Given the description of an element on the screen output the (x, y) to click on. 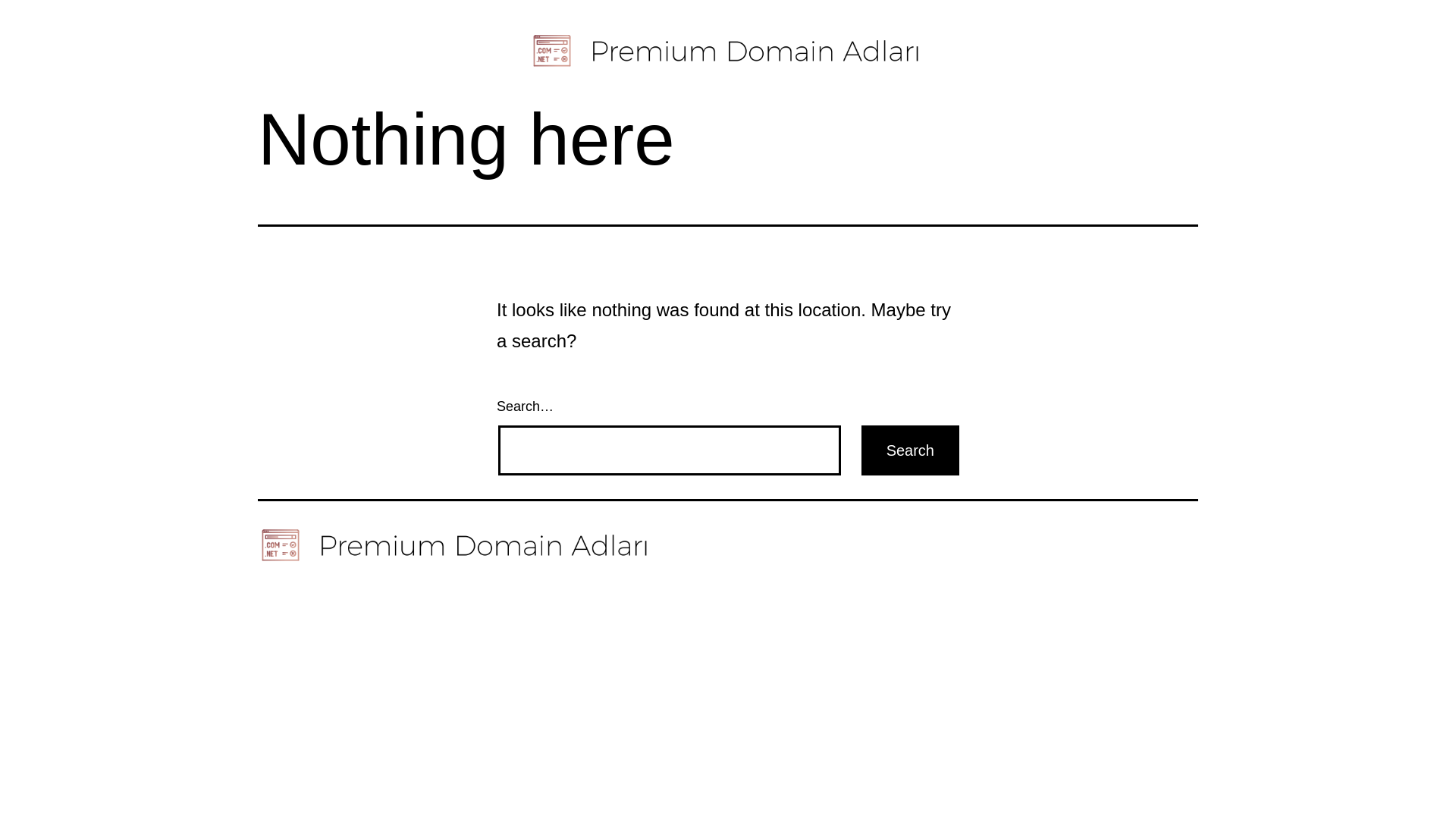
Search Element type: text (910, 450)
